Given the description of an element on the screen output the (x, y) to click on. 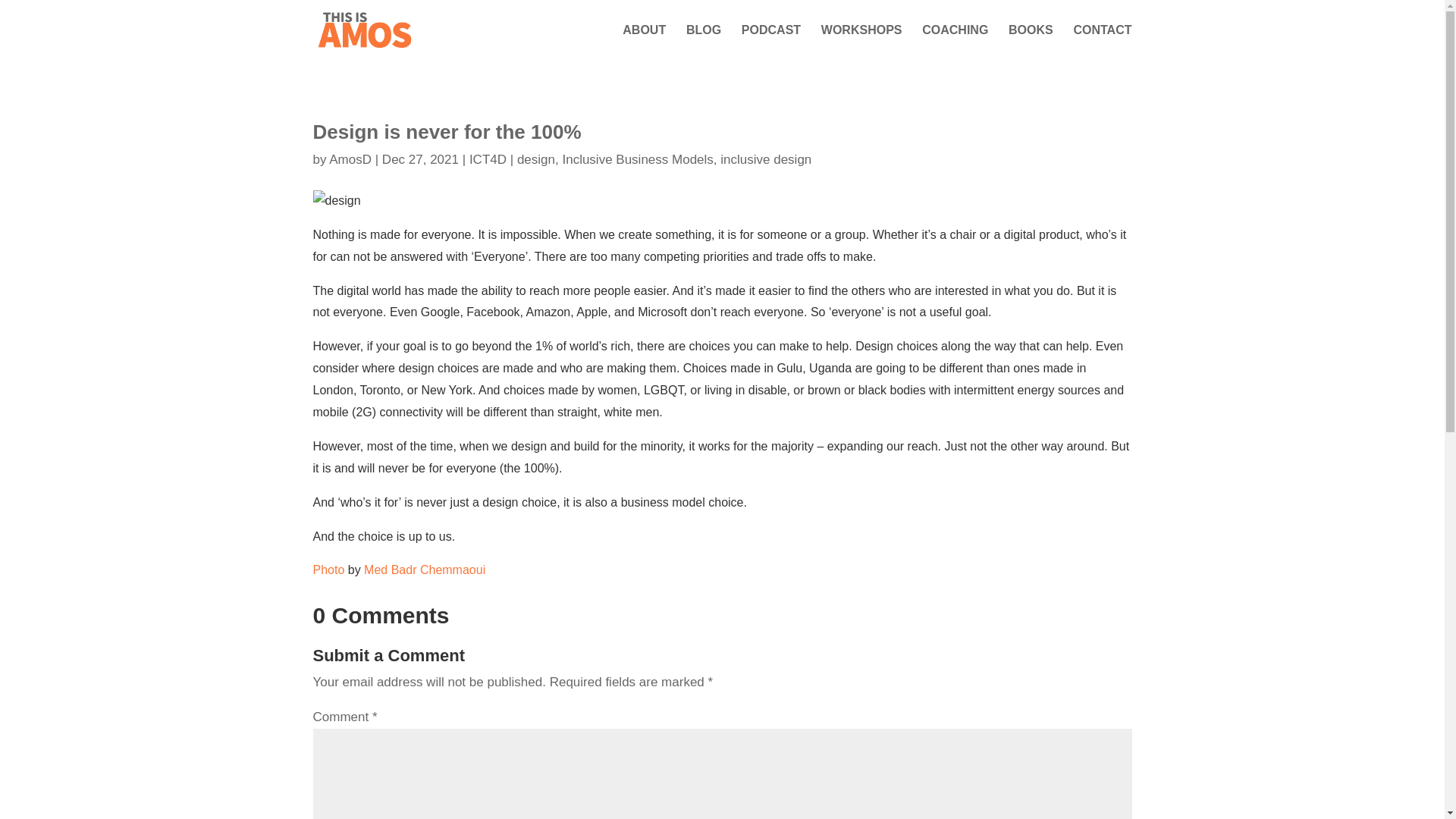
Photo (328, 569)
BOOKS (1030, 42)
inclusive design (765, 159)
AmosD (350, 159)
PODCAST (770, 42)
WORKSHOPS (861, 42)
Inclusive Business Models (639, 159)
Med Badr Chemmaoui (424, 569)
ABOUT (644, 42)
ICT4D (487, 159)
Posts by AmosD (350, 159)
COACHING (954, 42)
CONTACT (1102, 42)
design (537, 159)
BLOG (702, 42)
